Given the description of an element on the screen output the (x, y) to click on. 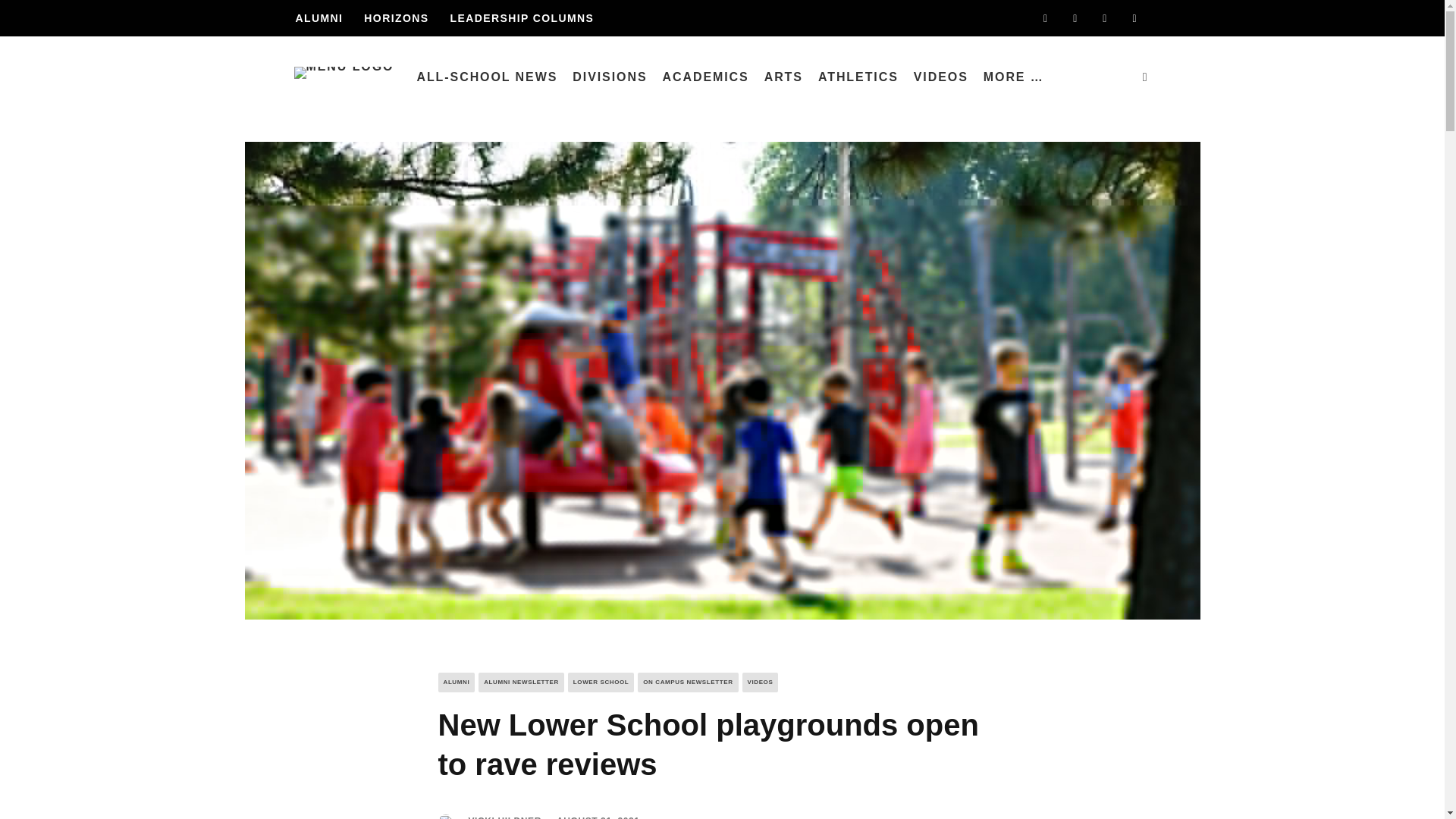
ALL-SCHOOL NEWS (486, 77)
HORIZONS (395, 18)
ARTS (783, 77)
ACADEMICS (704, 77)
DIVISIONS (608, 77)
VIDEOS (940, 77)
ATHLETICS (857, 77)
LEADERSHIP COLUMNS (521, 18)
ALUMNI (318, 18)
